Given the description of an element on the screen output the (x, y) to click on. 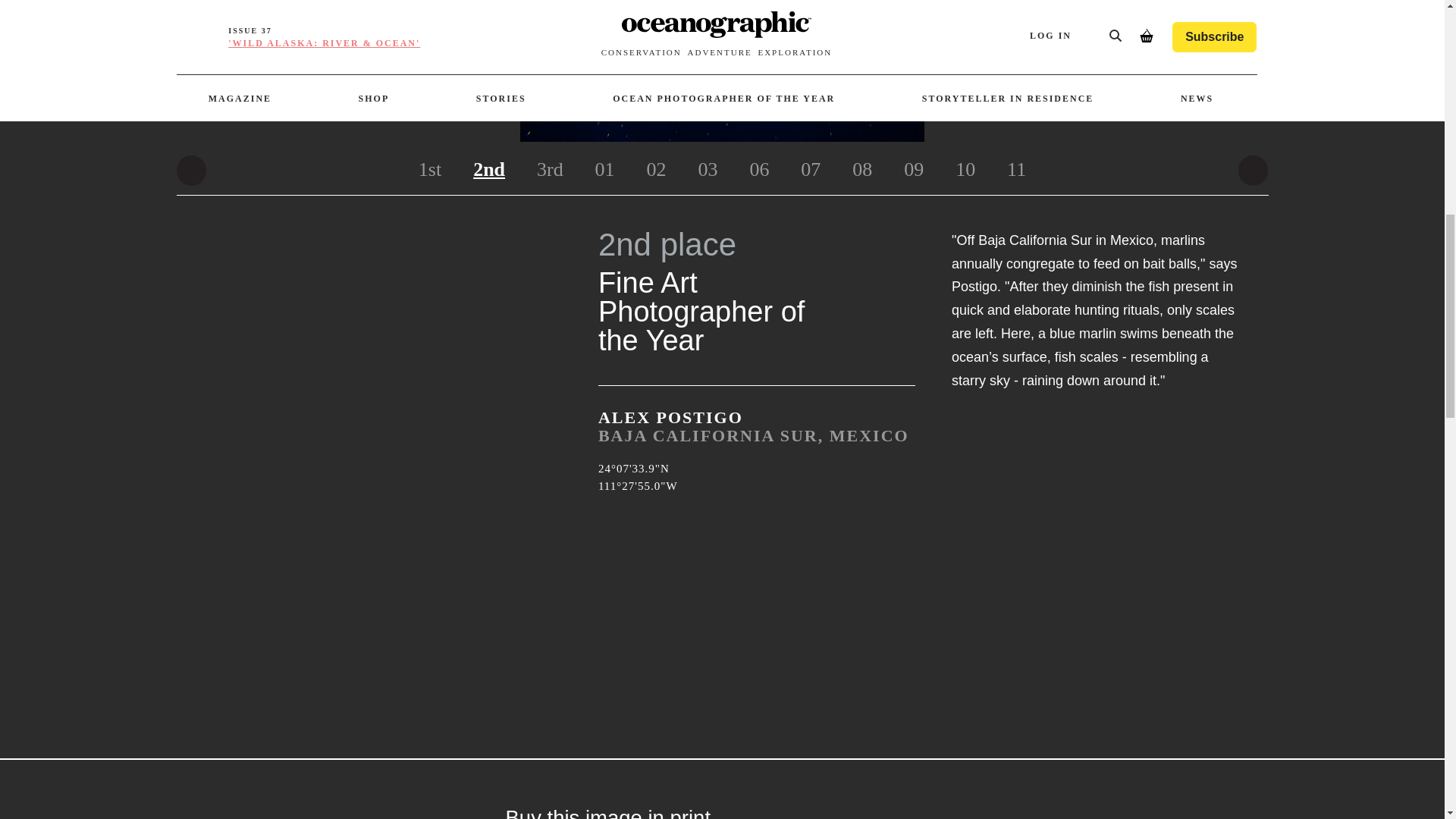
1st (429, 169)
07 (810, 169)
06 (759, 169)
Next (1252, 170)
Previews (191, 170)
08 (862, 169)
2nd (488, 169)
10 (965, 169)
03 (707, 169)
01 (604, 169)
